Given the description of an element on the screen output the (x, y) to click on. 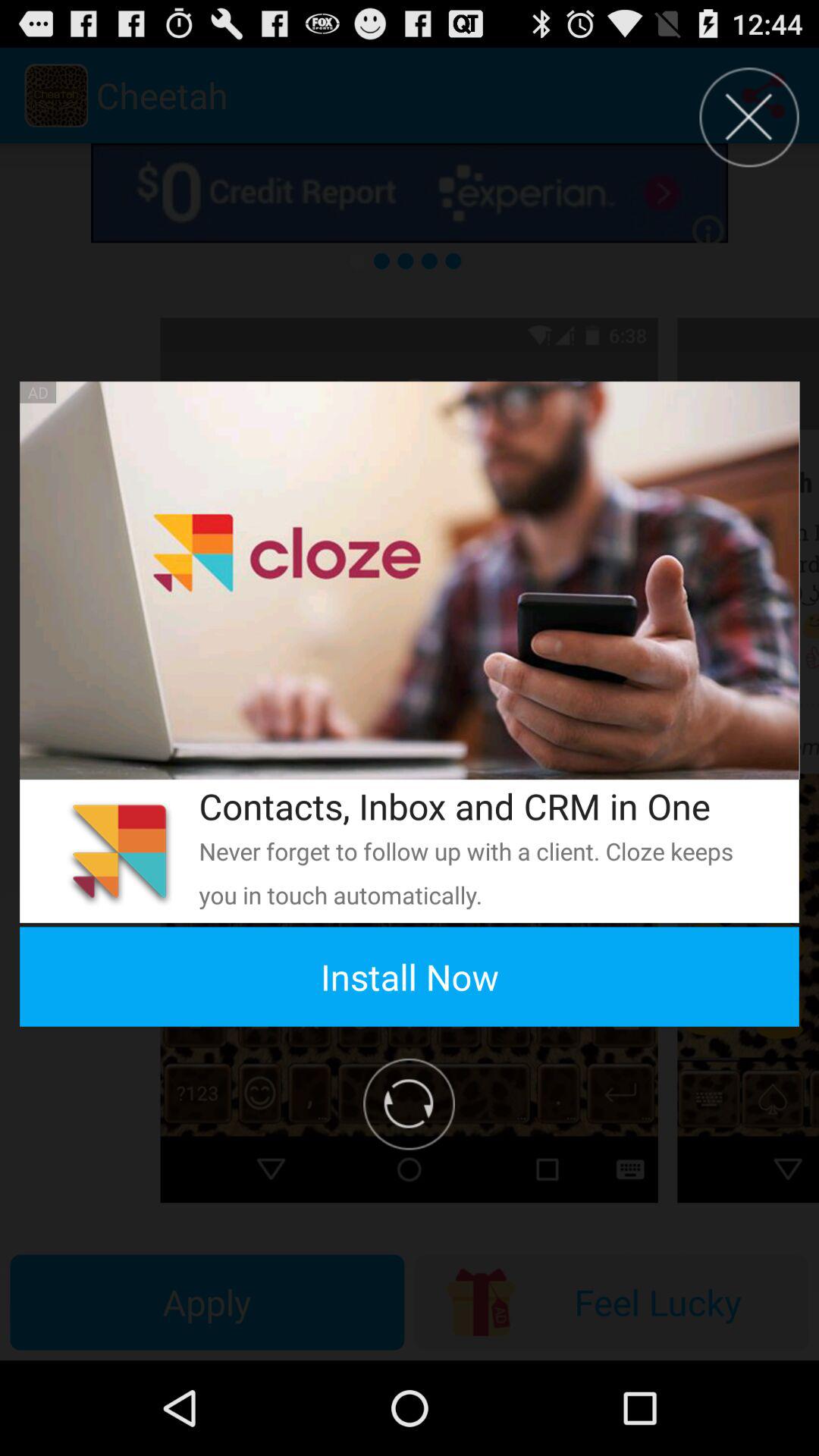
tap app below install now item (409, 1104)
